Given the description of an element on the screen output the (x, y) to click on. 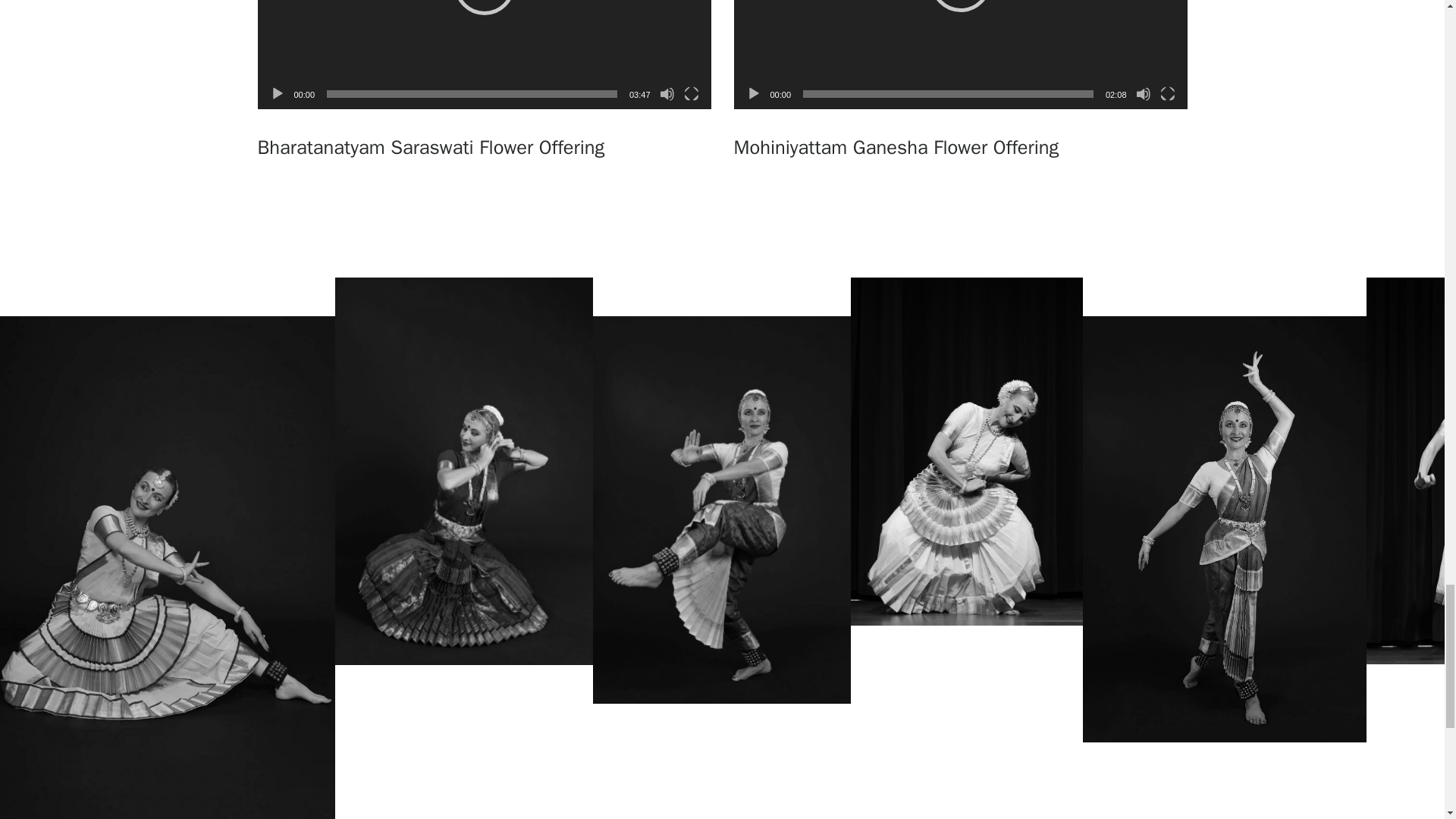
Play (277, 93)
